Given the description of an element on the screen output the (x, y) to click on. 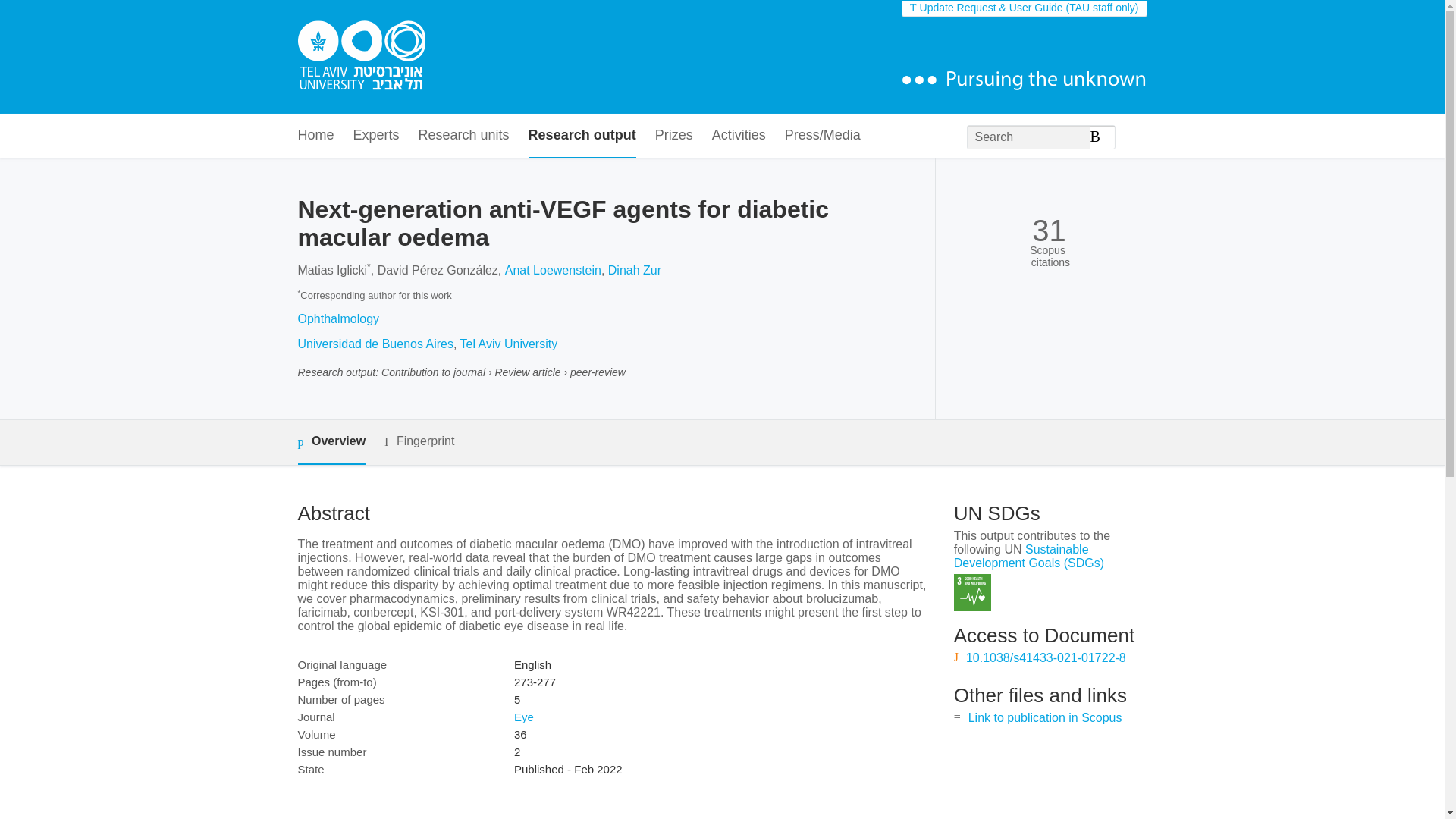
Tel Aviv University (508, 343)
Universidad de Buenos Aires (374, 343)
Eye (523, 716)
Activities (738, 135)
Experts (375, 135)
Dinah Zur (634, 269)
Research units (464, 135)
Anat Loewenstein (553, 269)
Ophthalmology (337, 318)
Fingerprint (419, 441)
Research output (582, 135)
Tel Aviv University Home (361, 56)
SDG 3 - Good Health and Well-being (972, 592)
Link to publication in Scopus (1045, 717)
